Given the description of an element on the screen output the (x, y) to click on. 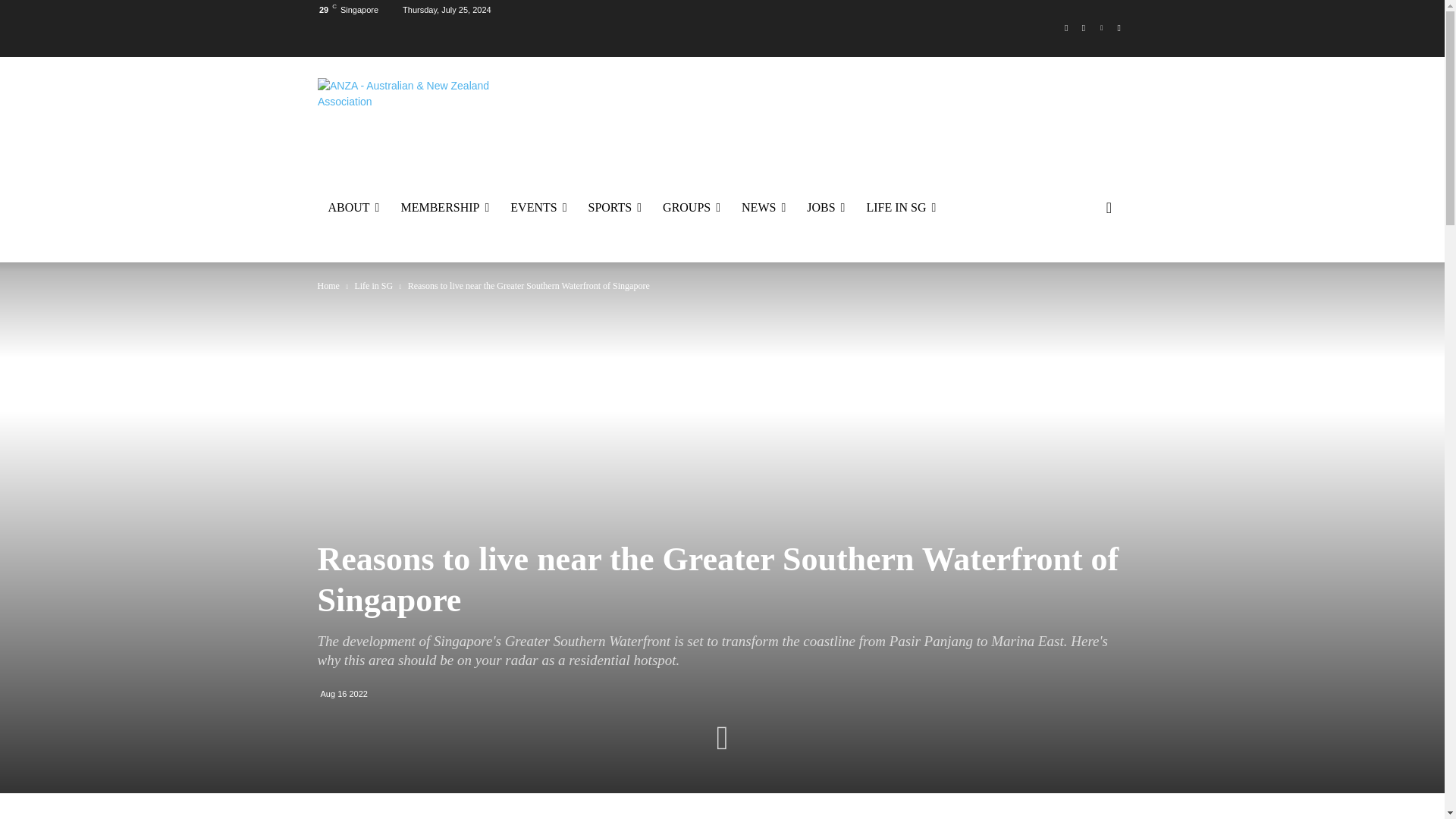
Linkedin (1101, 27)
Join the Community (419, 111)
Instagram (1084, 27)
3rd party ad content (874, 130)
Twitter (1117, 27)
Facebook (1066, 27)
Art and Craft (691, 207)
